Given the description of an element on the screen output the (x, y) to click on. 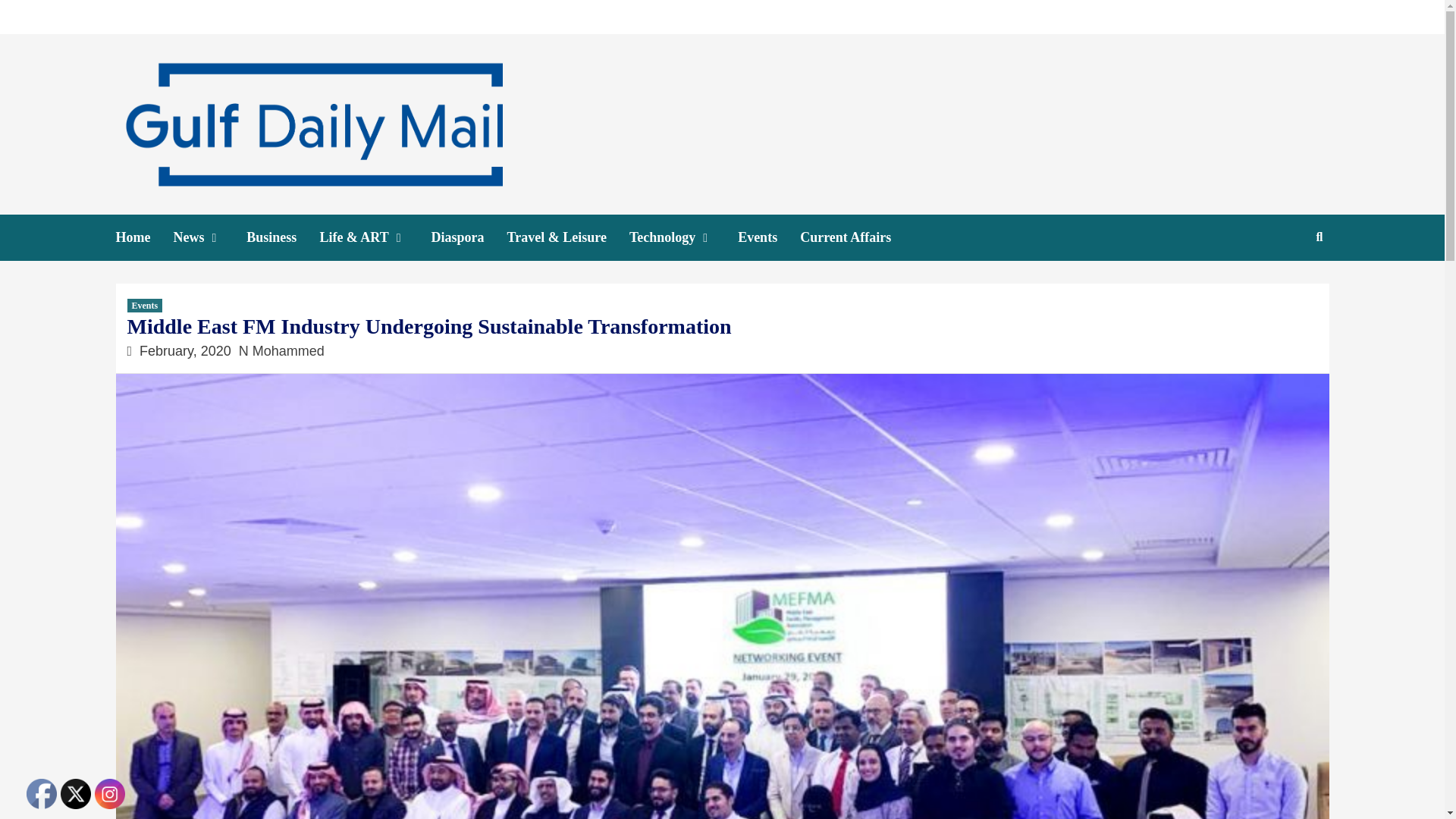
News (209, 237)
Diaspora (468, 237)
Business (282, 237)
Facebook (41, 793)
N Mohammed (281, 350)
Search (1283, 286)
Events (145, 305)
Events (768, 237)
Current Affairs (856, 237)
Home (144, 237)
INSTAGRAM (109, 793)
Twitter (75, 793)
Technology (683, 237)
